Given the description of an element on the screen output the (x, y) to click on. 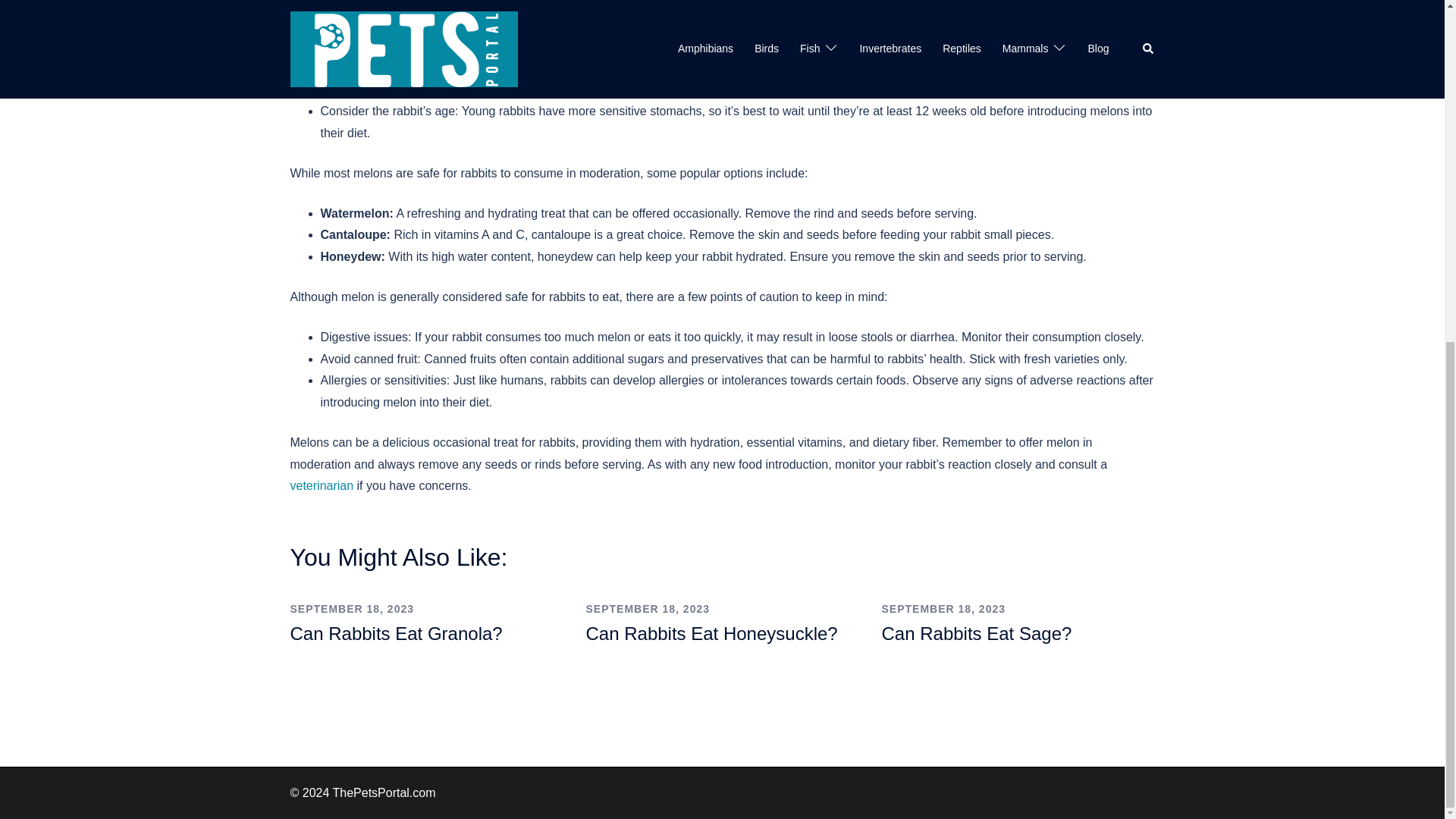
veterinarian (321, 485)
